Given the description of an element on the screen output the (x, y) to click on. 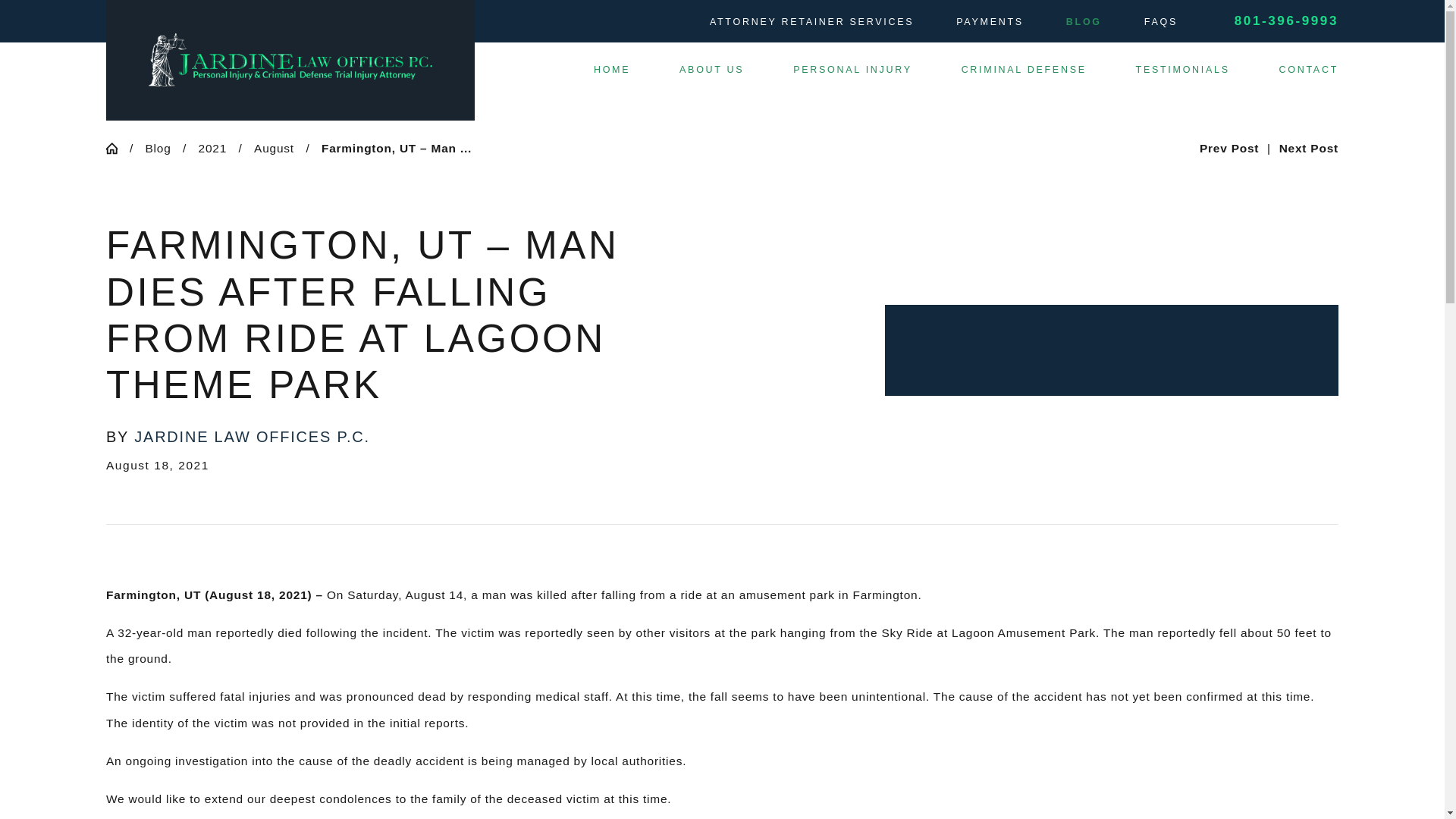
Jardine Law Offices P.C. (290, 59)
BLOG (1083, 21)
CRIMINAL DEFENSE (1023, 69)
Open the accessibility options menu (31, 786)
Go Home (117, 147)
HOME (612, 69)
PERSONAL INJURY (852, 69)
ATTORNEY RETAINER SERVICES (812, 21)
ABOUT US (711, 69)
801-396-9993 (1286, 21)
FAQS (1160, 21)
PAYMENTS (989, 21)
